Given the description of an element on the screen output the (x, y) to click on. 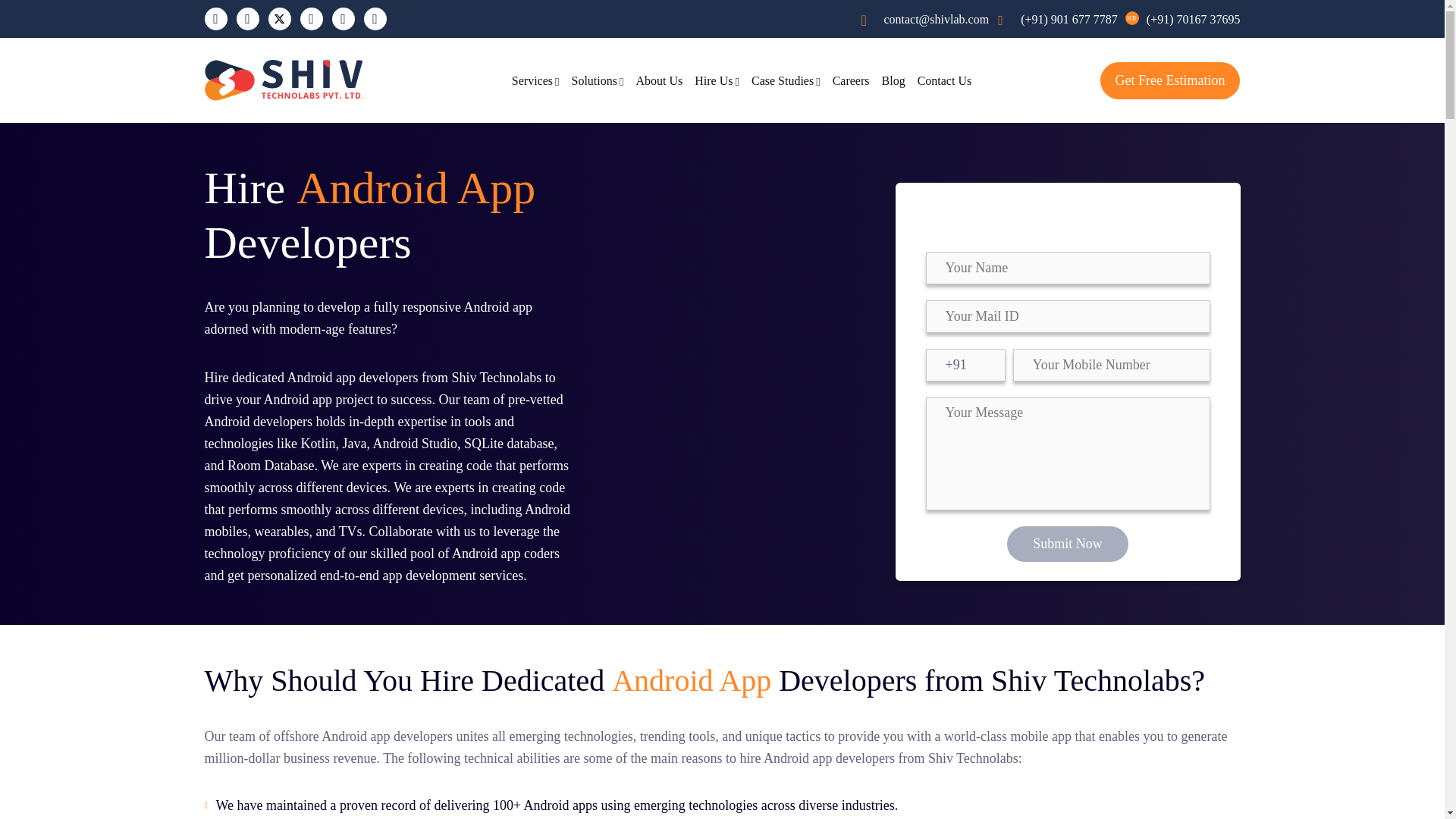
Services (535, 80)
Submit now (1067, 543)
